Given the description of an element on the screen output the (x, y) to click on. 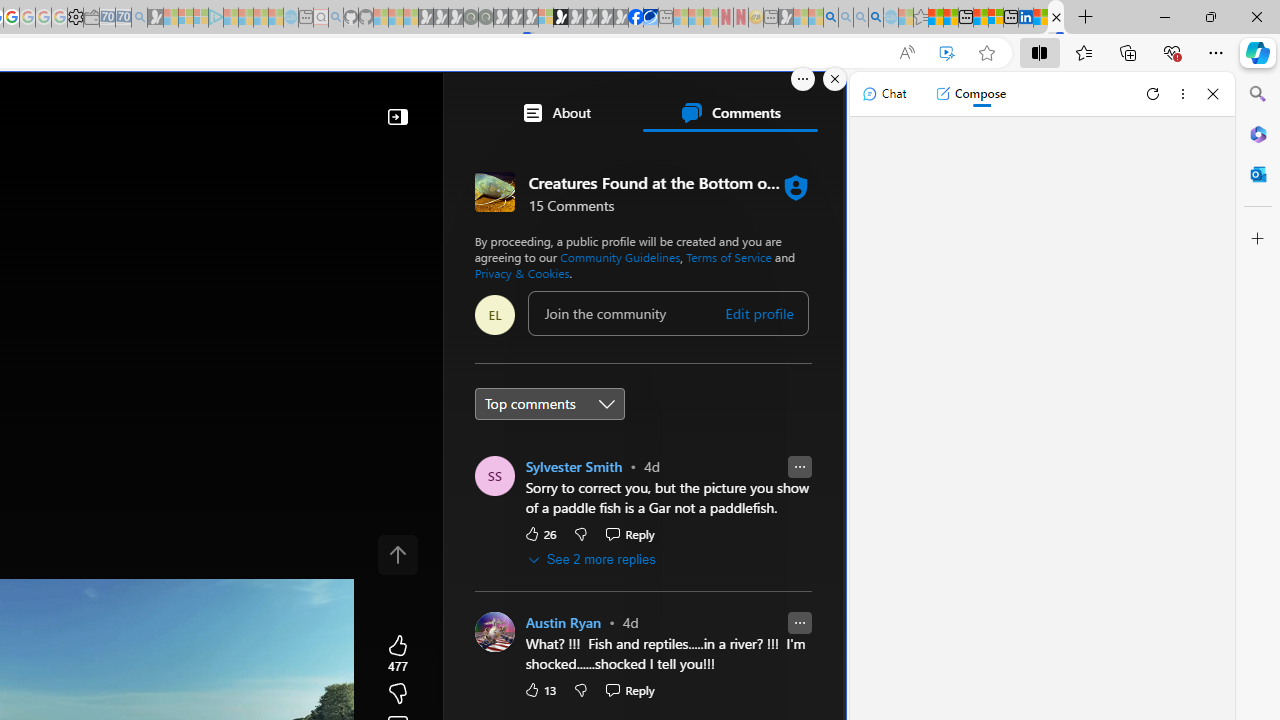
More options. (803, 79)
Compose (970, 93)
Comments (729, 111)
comment-box (667, 313)
Creatures Found at the Bottom of the Mississippi River (1055, 17)
Class: control icon-only (397, 554)
Report comment (799, 623)
